Given the description of an element on the screen output the (x, y) to click on. 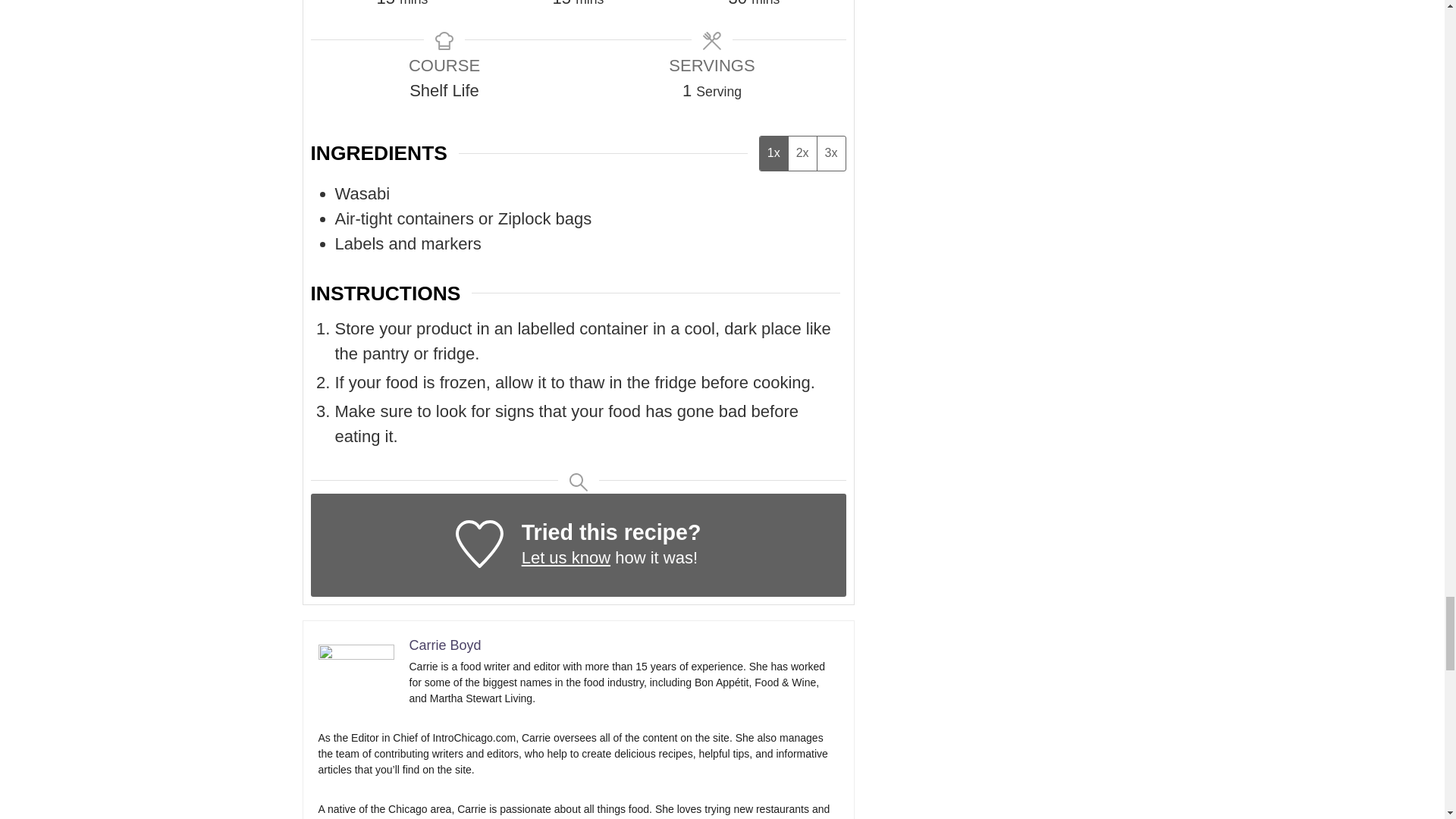
Carrie Boyd (445, 645)
Let us know (565, 557)
